Given the description of an element on the screen output the (x, y) to click on. 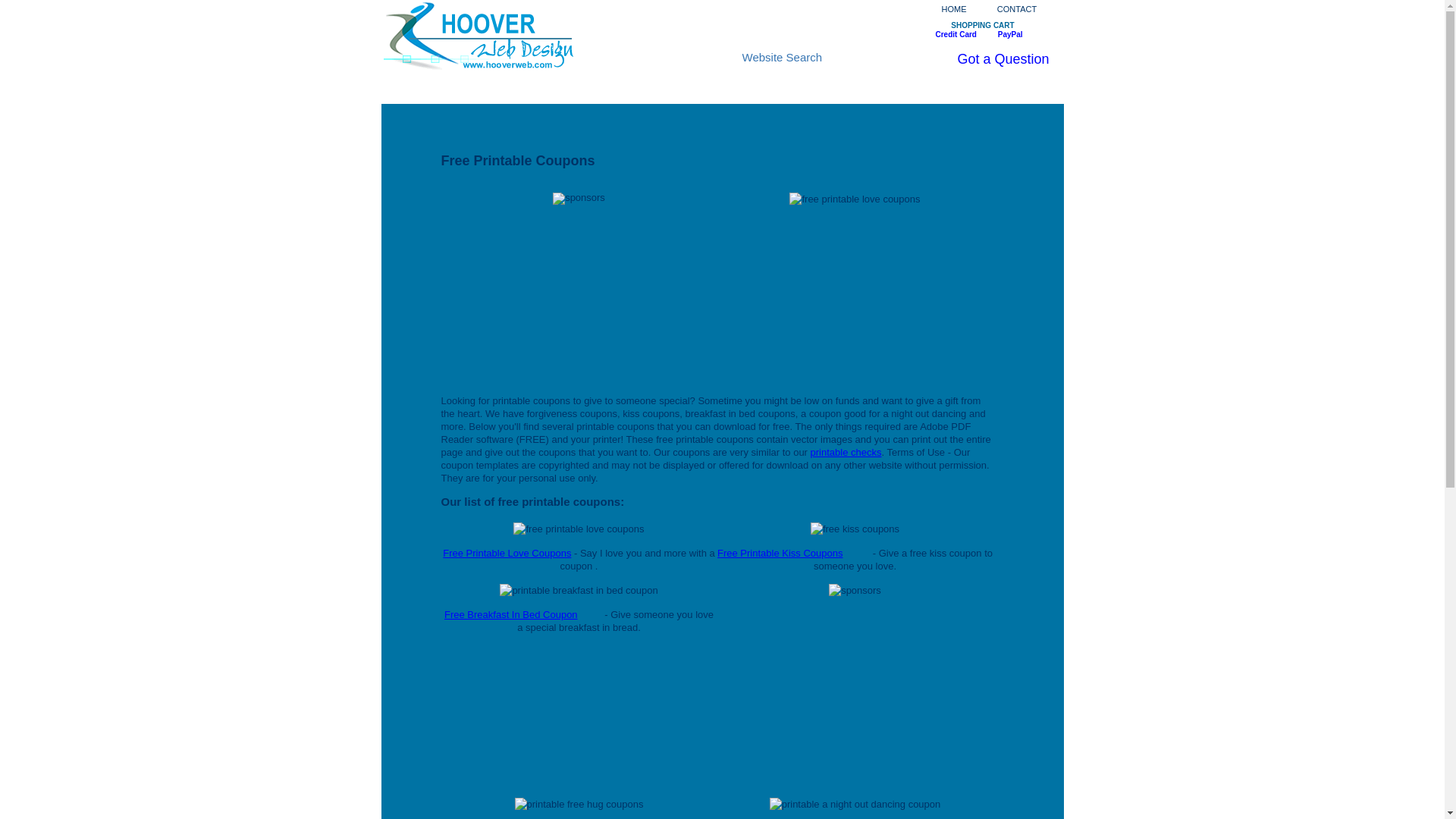
Website Search (802, 56)
Hoover Web Design (412, 89)
free printable kiss coupons (780, 552)
Web Site Knowledgebase (747, 89)
Free Breakfast In Bed Coupon (511, 614)
Small Business Services (967, 89)
Web Site Templates (643, 89)
Learn About Hoover Web Design (459, 89)
Free Printable Kiss Coupons (780, 552)
Home (412, 89)
